Given the description of an element on the screen output the (x, y) to click on. 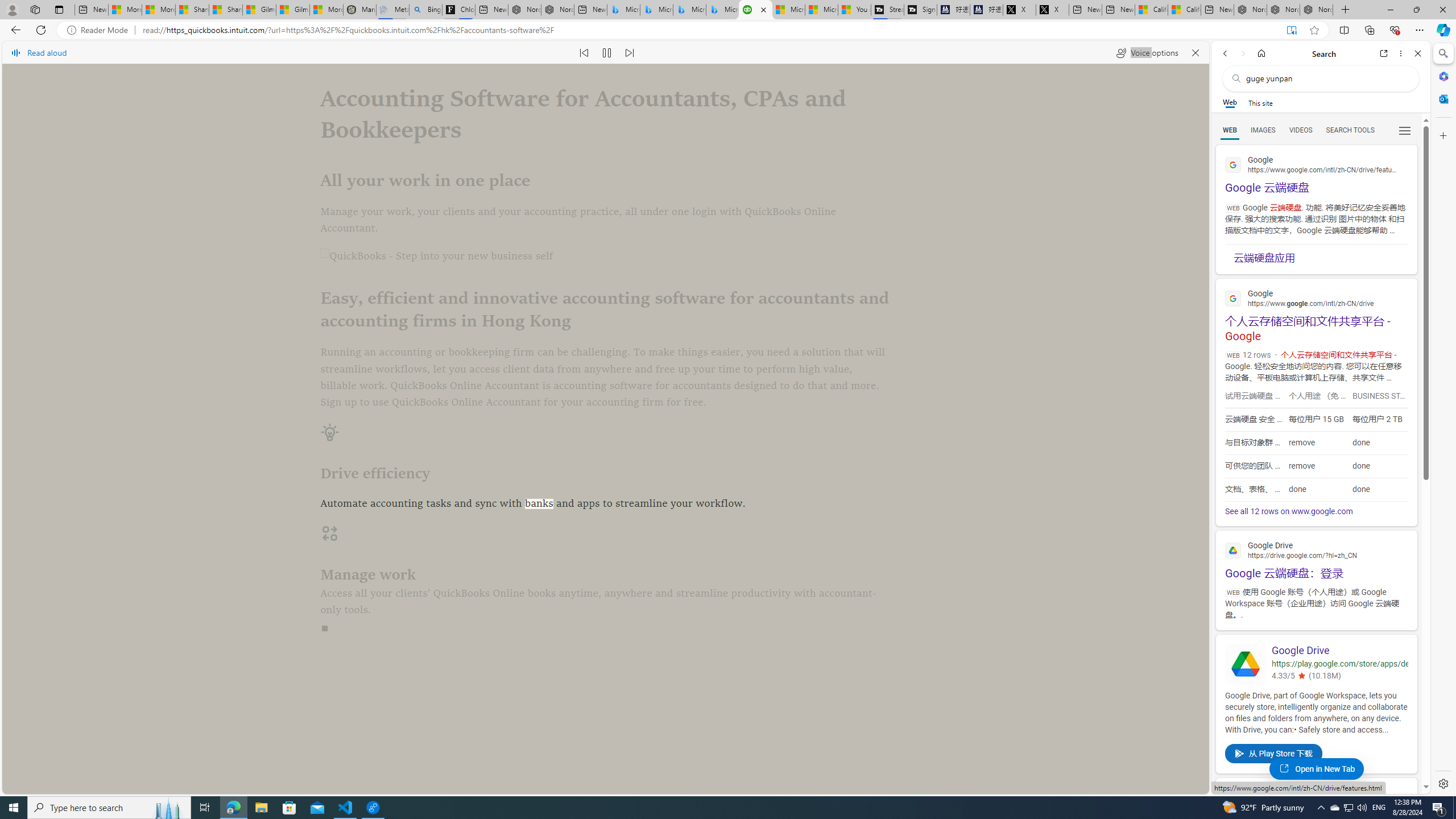
Google Drive (1339, 650)
SEARCH TOOLS (1350, 130)
Accounting Software for Accountants, CPAs and Bookkeepers (755, 9)
Preferences (1403, 129)
Search Filter, WEB (1230, 129)
Search Filter, VIDEOS (1300, 129)
